Given the description of an element on the screen output the (x, y) to click on. 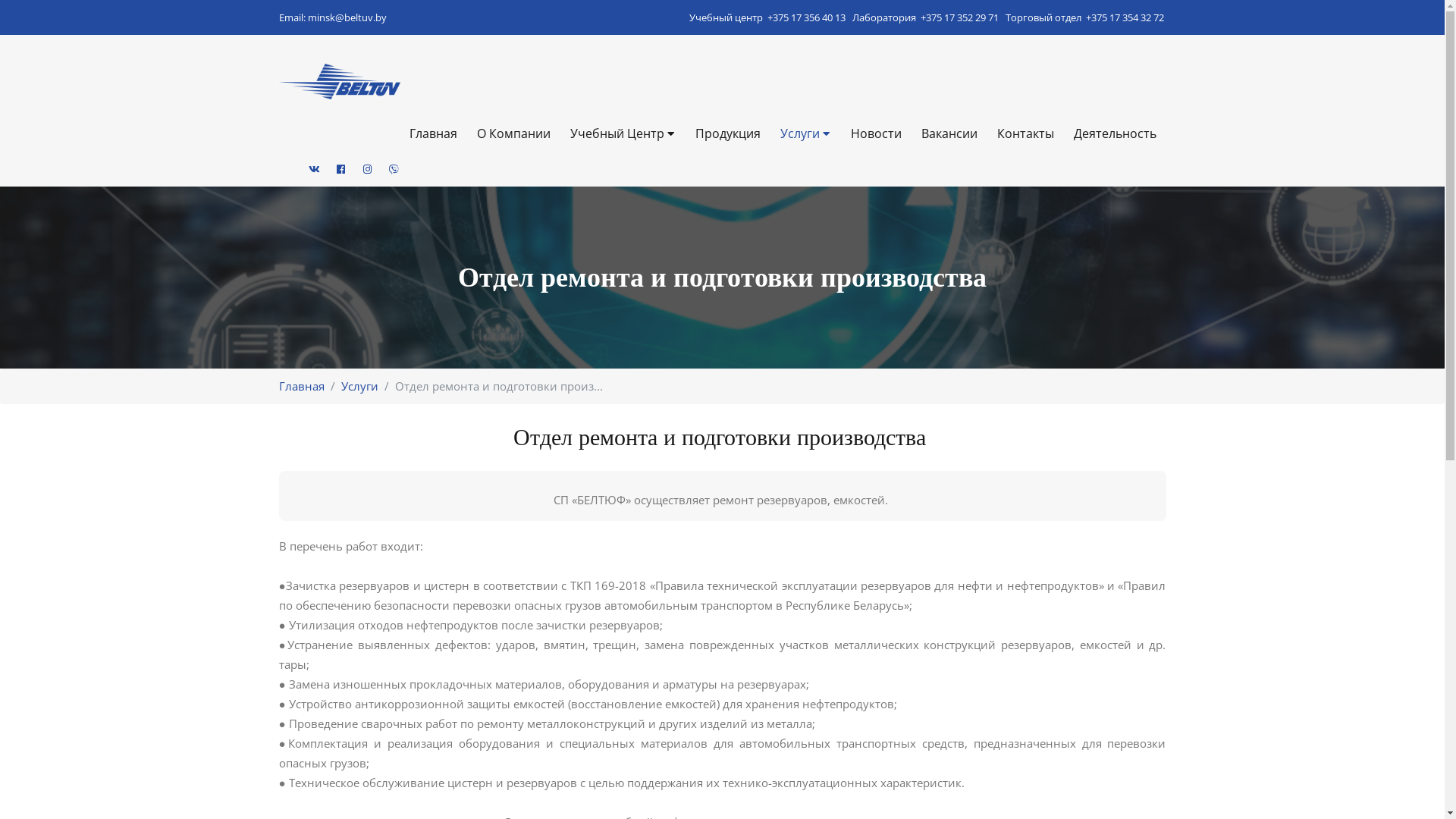
+375 17 354 32 72 Element type: text (1124, 17)
minsk@beltuv.by Element type: text (346, 17)
+375 17 352 29 71 Element type: text (959, 17)
+375 17 356 40 13 Element type: text (806, 17)
